Given the description of an element on the screen output the (x, y) to click on. 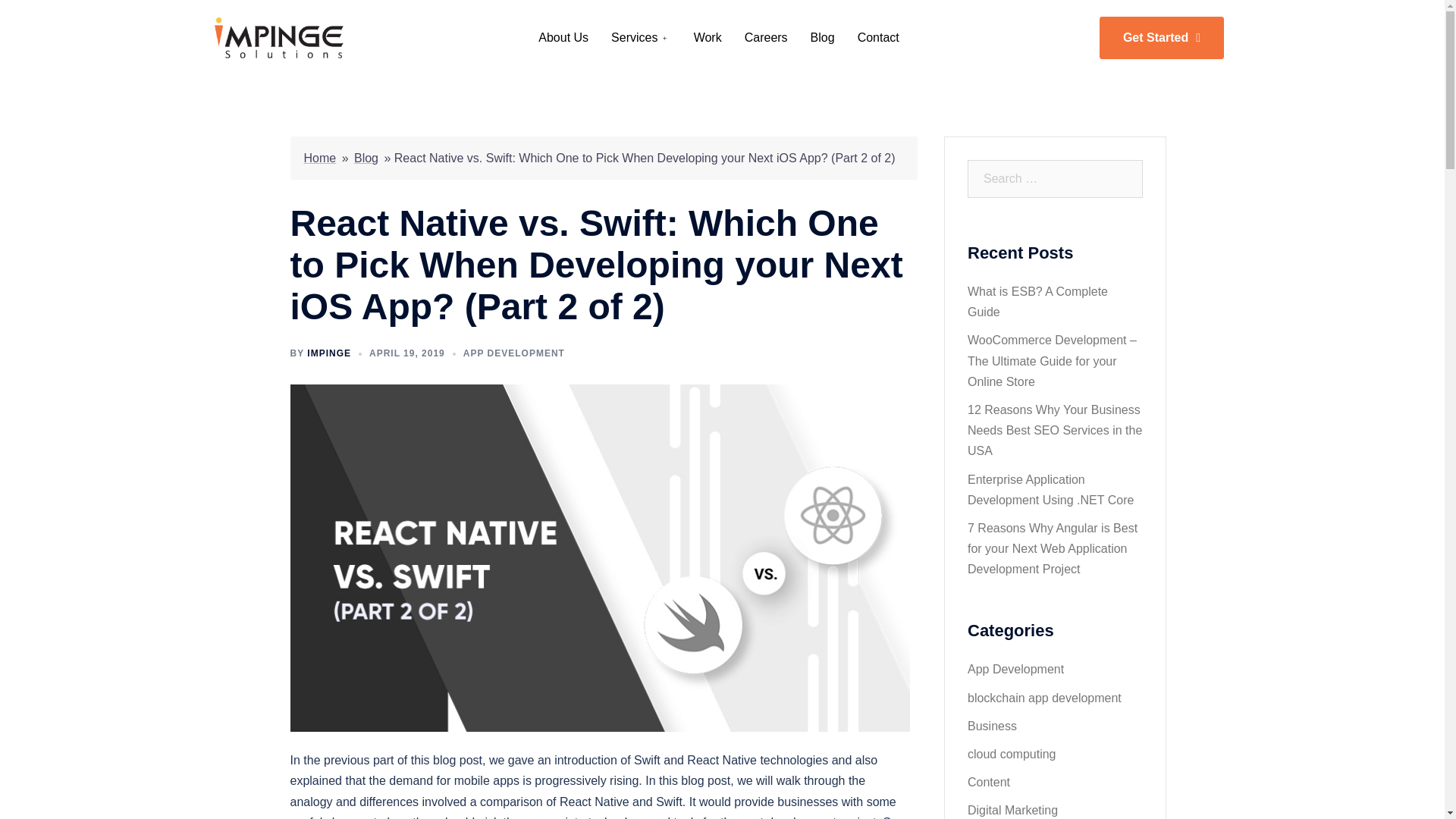
Careers (766, 37)
About Us (563, 37)
Services (640, 37)
